Given the description of an element on the screen output the (x, y) to click on. 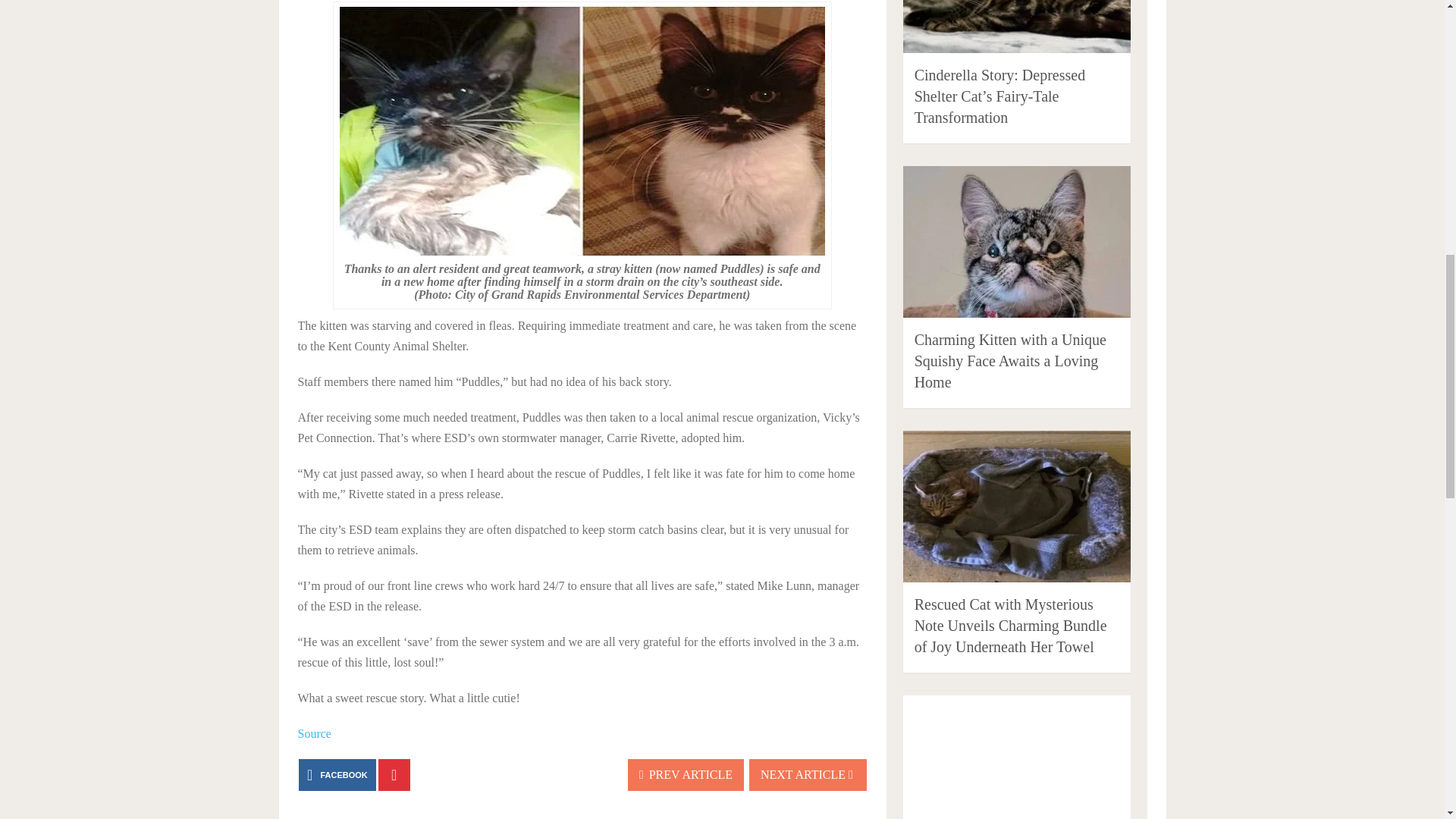
Source (313, 733)
FACEBOOK (336, 775)
PREV ARTICLE (685, 775)
NEXT ARTICLE (807, 775)
